Given the description of an element on the screen output the (x, y) to click on. 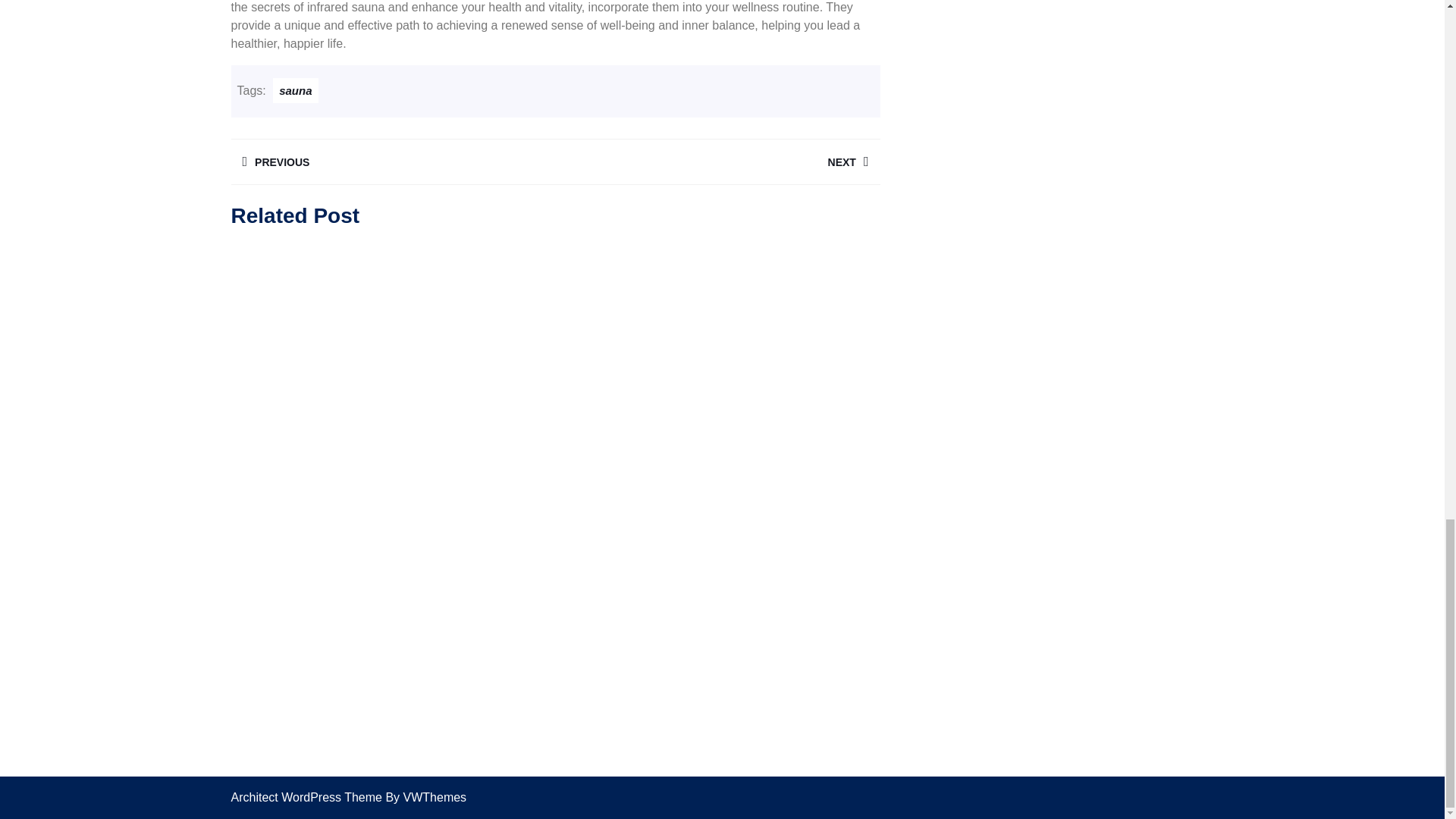
sauna (716, 161)
